Given the description of an element on the screen output the (x, y) to click on. 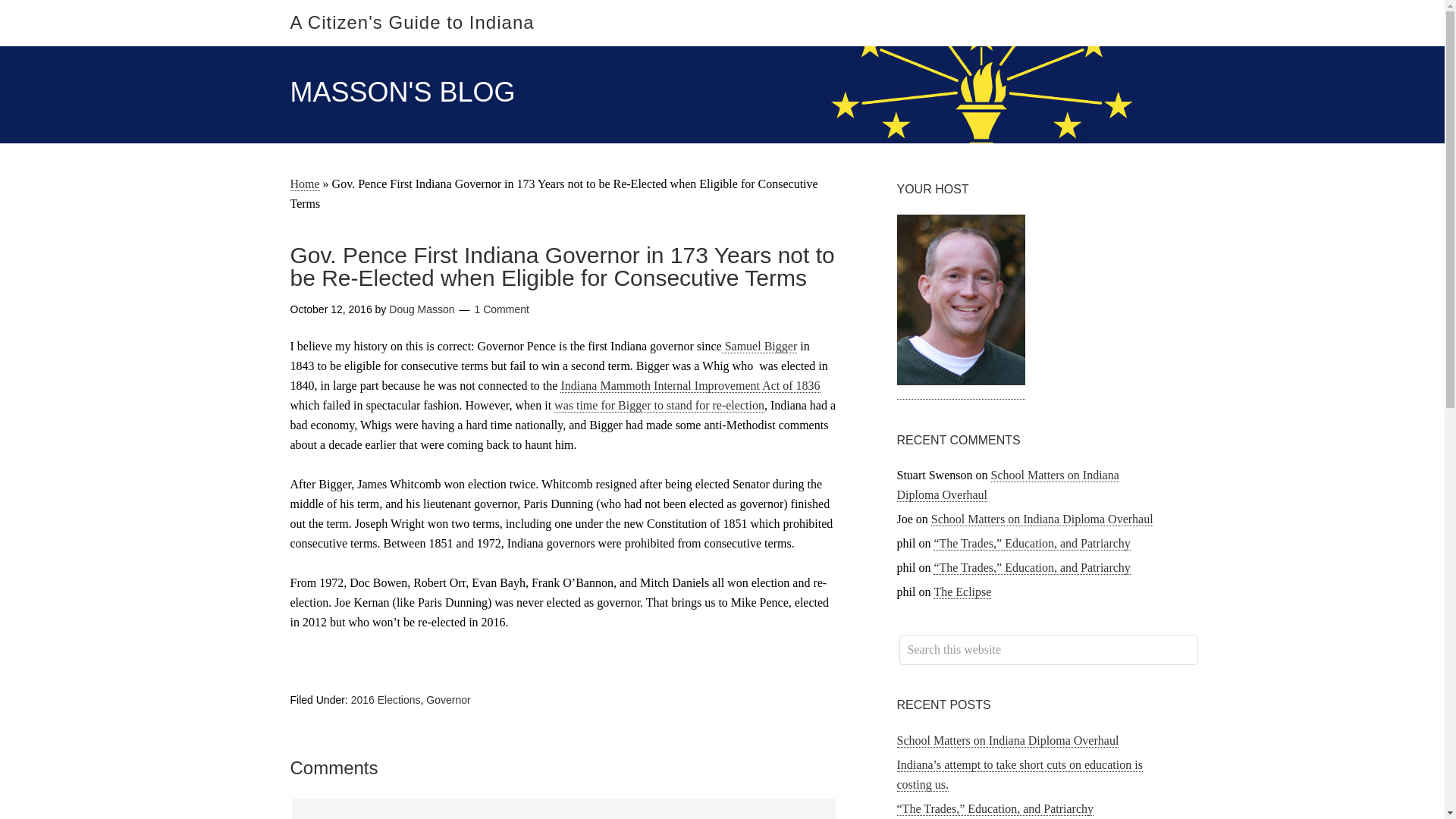
The Eclipse (962, 591)
School Matters on Indiana Diploma Overhaul (1007, 740)
School Matters on Indiana Diploma Overhaul (1007, 485)
Indiana Mammoth Internal Improvement Act of 1836 (689, 386)
Samuel Bigger (759, 345)
was time for Bigger to stand for re-election (659, 405)
A Citizen's Guide to Indiana (411, 22)
Governor (448, 699)
Home (303, 183)
1 Comment (501, 309)
2016 Elections (385, 699)
Doug Masson (421, 309)
